Given the description of an element on the screen output the (x, y) to click on. 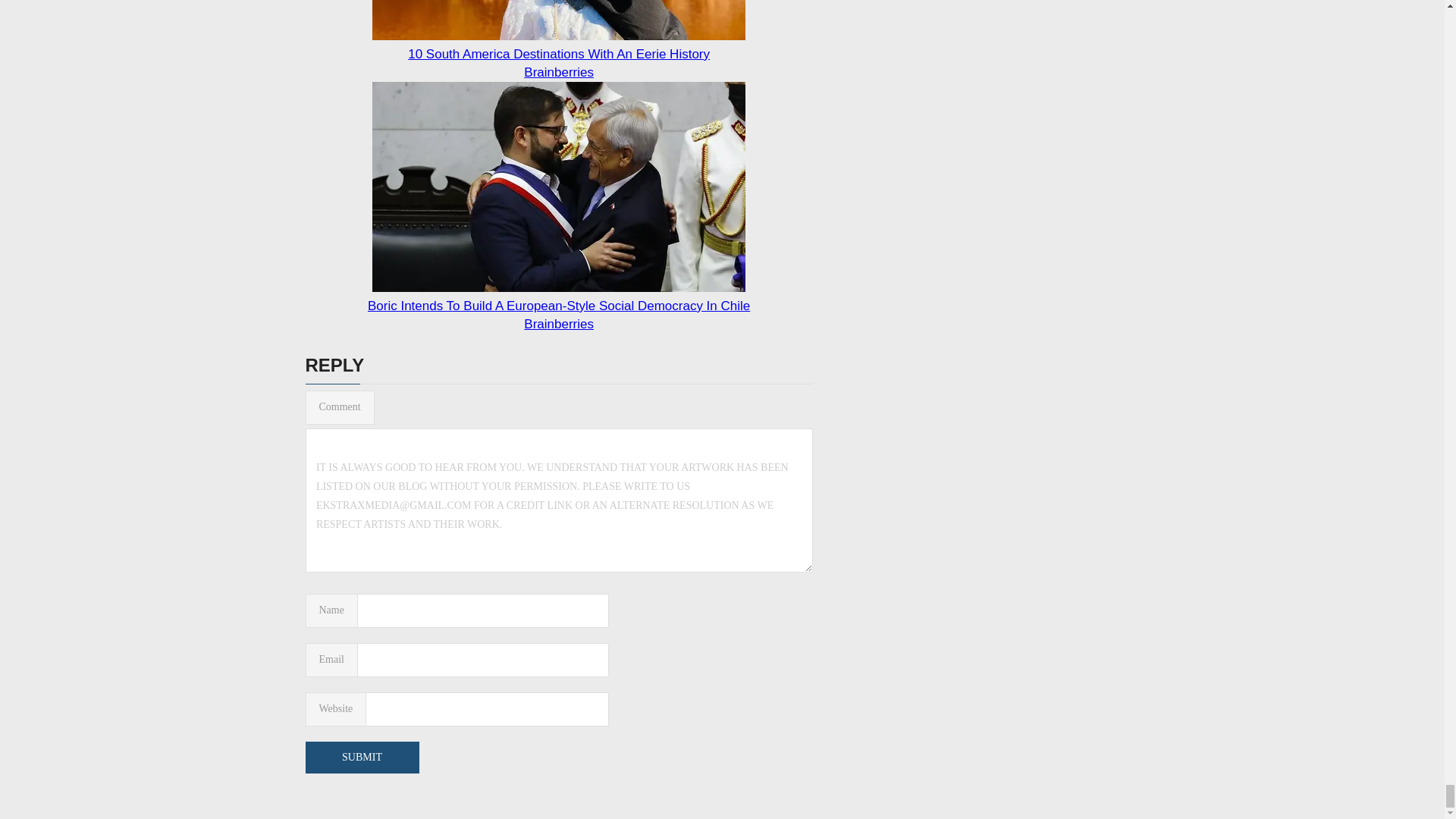
Submit (361, 757)
